Given the description of an element on the screen output the (x, y) to click on. 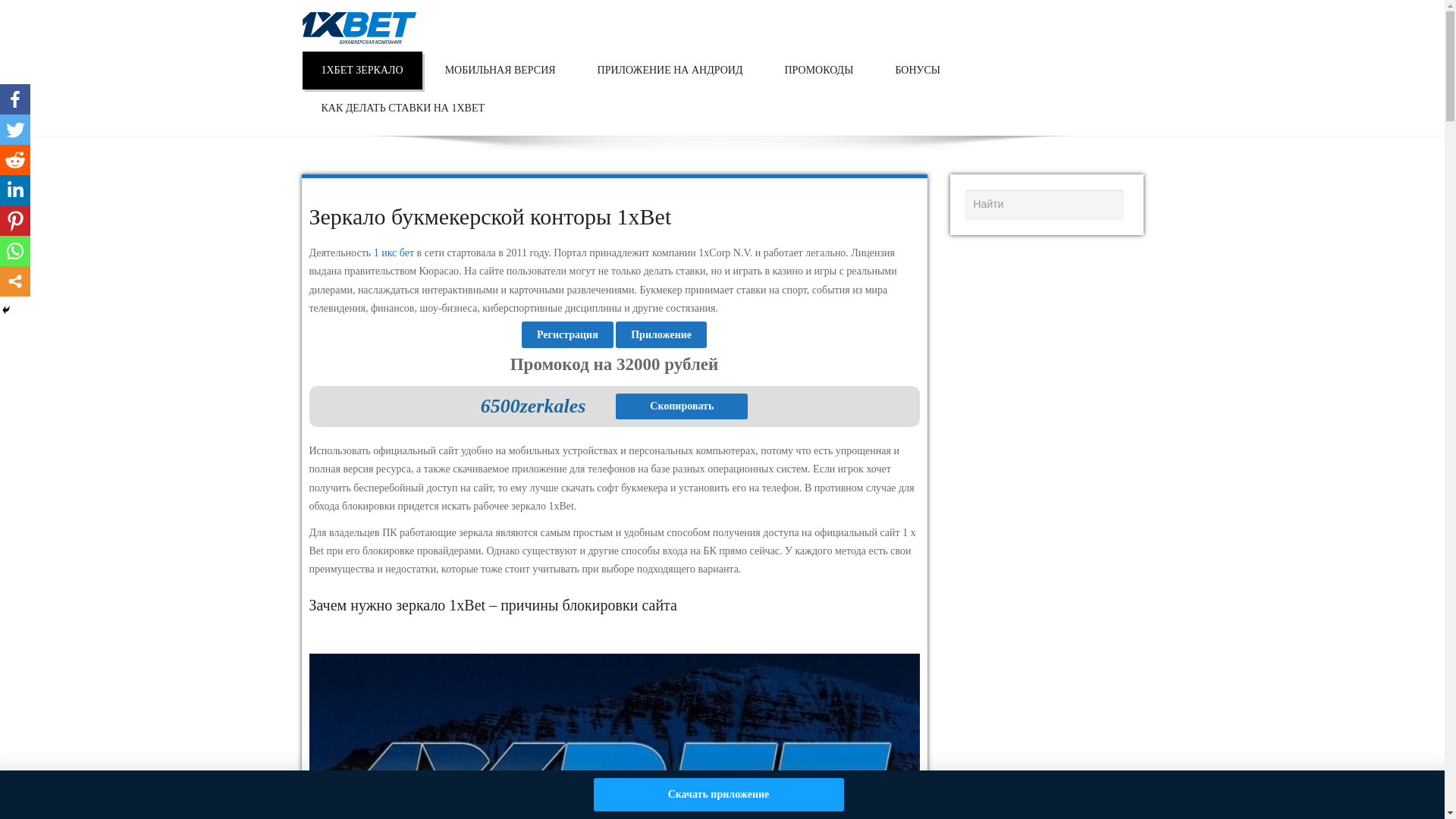
Reddit Element type: hover (15, 159)
Pinterest Element type: hover (15, 220)
Linkedin Element type: hover (15, 190)
Twitter Element type: hover (15, 129)
Whatsapp Element type: hover (15, 250)
Hide Element type: hover (6, 310)
More Element type: hover (15, 281)
Facebook Element type: hover (15, 99)
